Given the description of an element on the screen output the (x, y) to click on. 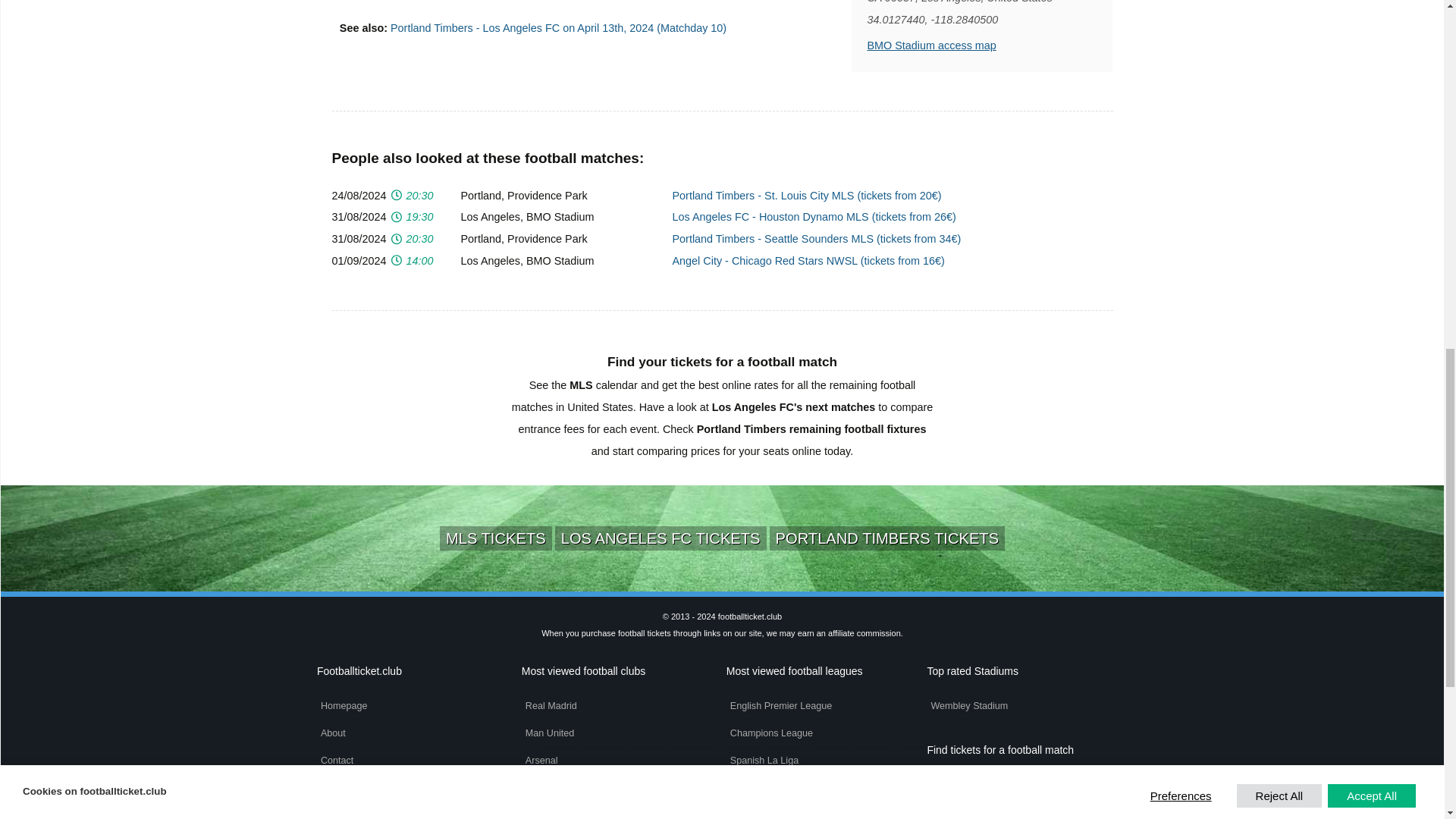
MLS tickets (495, 538)
Los Angeles FC football tickets  (660, 538)
Los Angeles FC vs Houston Dynamo tickets MLS (813, 216)
Portland Timbers - Los Angeles FC tickets (558, 28)
Angel City vs Chicago Red Stars tickets NWSL (807, 260)
Portland Timbers vs Seattle Sounders tickets MLS (815, 238)
Portland Timbers football tickets (888, 538)
Portland Timbers vs St. Louis City tickets MLS (805, 195)
